Given the description of an element on the screen output the (x, y) to click on. 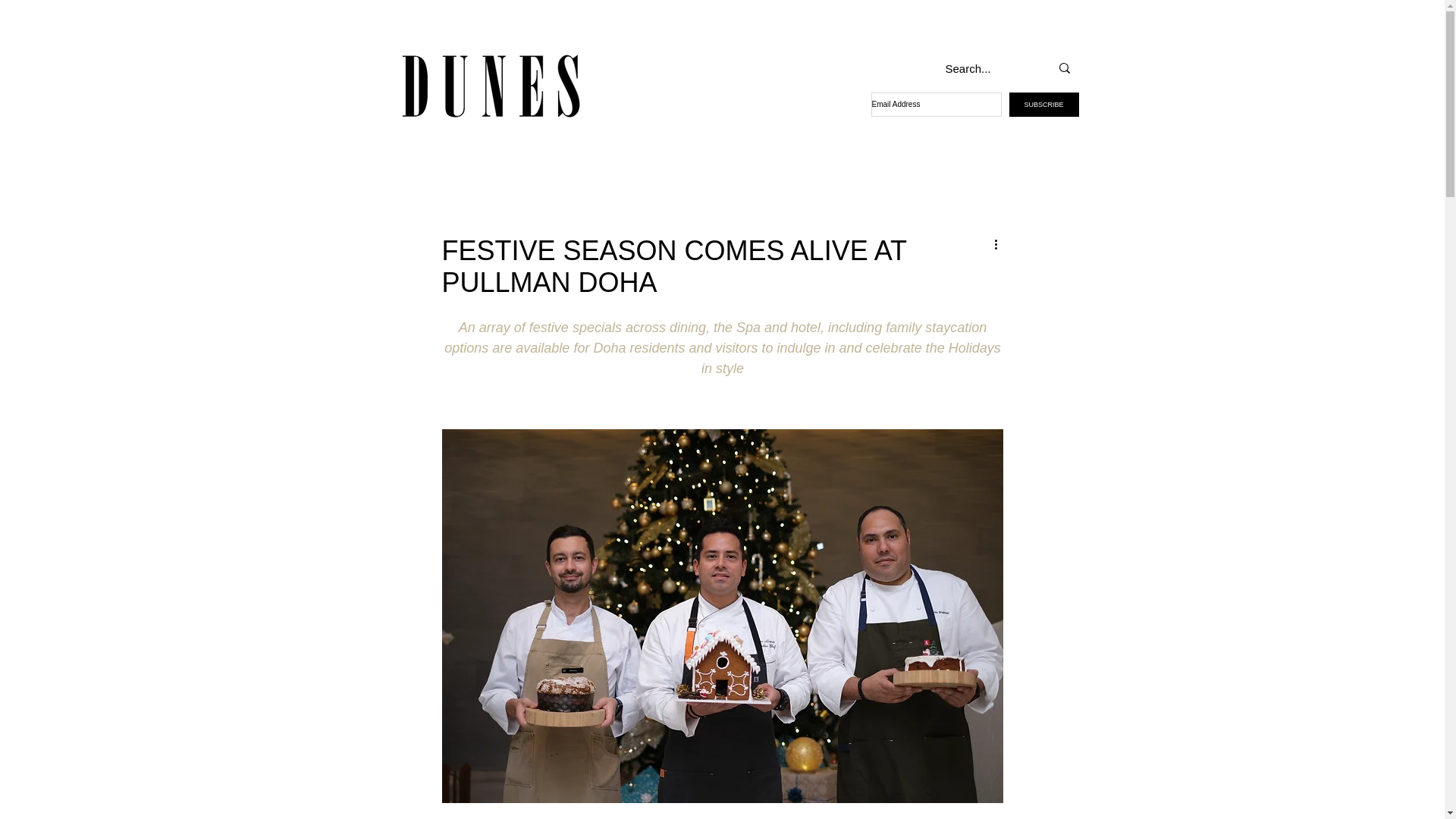
DUNES MAGAZINE (492, 85)
SUBSCRIBE (1043, 104)
